Given the description of an element on the screen output the (x, y) to click on. 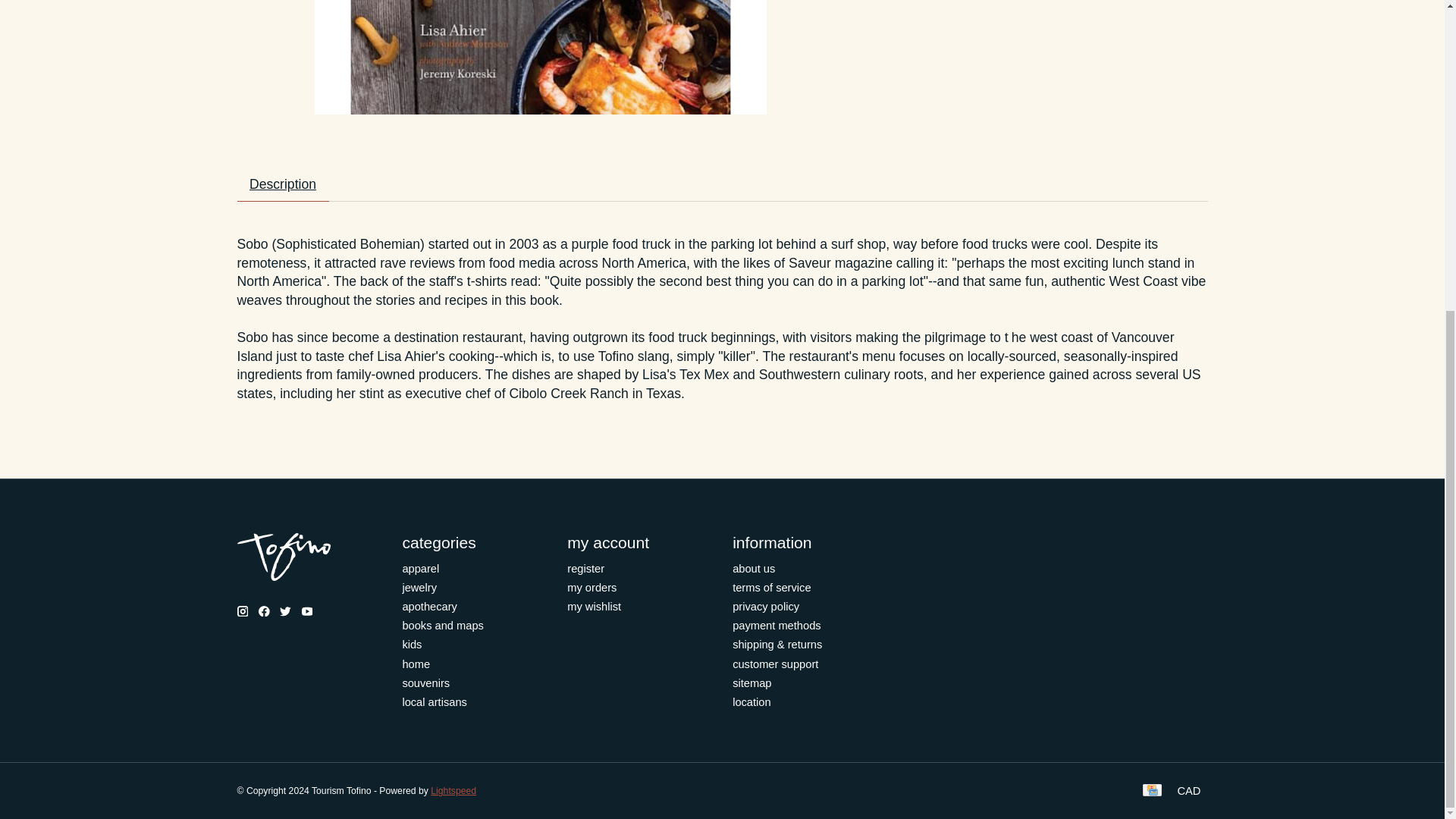
Payment methods (776, 625)
Register (585, 568)
Customer support (775, 664)
Terms of Service (771, 587)
Sitemap (751, 683)
Privacy policy (765, 606)
About us (753, 568)
My wishlist (594, 606)
My orders (591, 587)
